Given the description of an element on the screen output the (x, y) to click on. 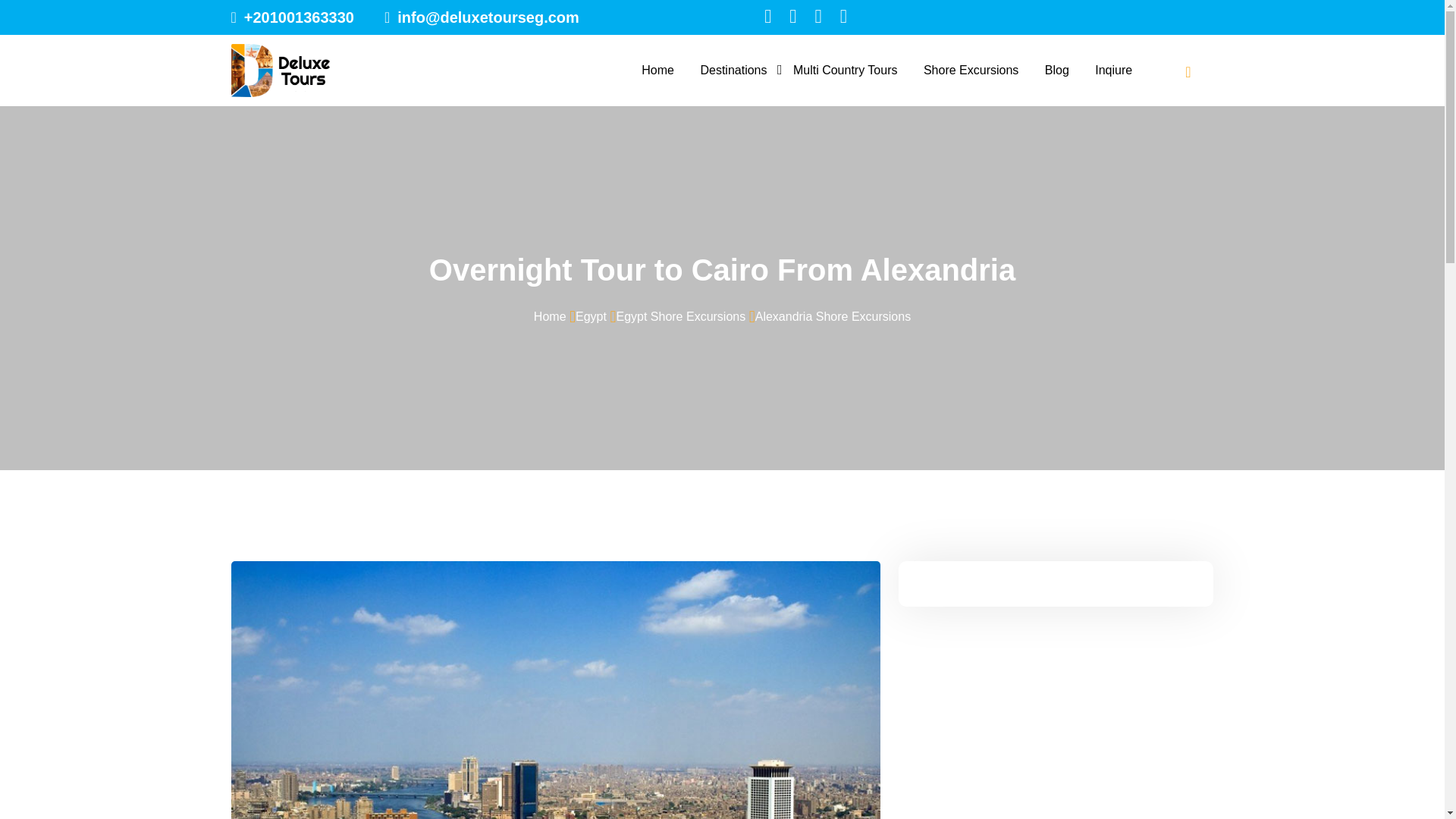
Alexandria Shore Excursions (833, 315)
Home (550, 315)
Egypt (591, 315)
Deluxe Tours (280, 70)
Multi Country Tours (845, 70)
Egypt Shore Excursions (680, 315)
Shore Excursions (970, 70)
Destinations (733, 70)
